Given the description of an element on the screen output the (x, y) to click on. 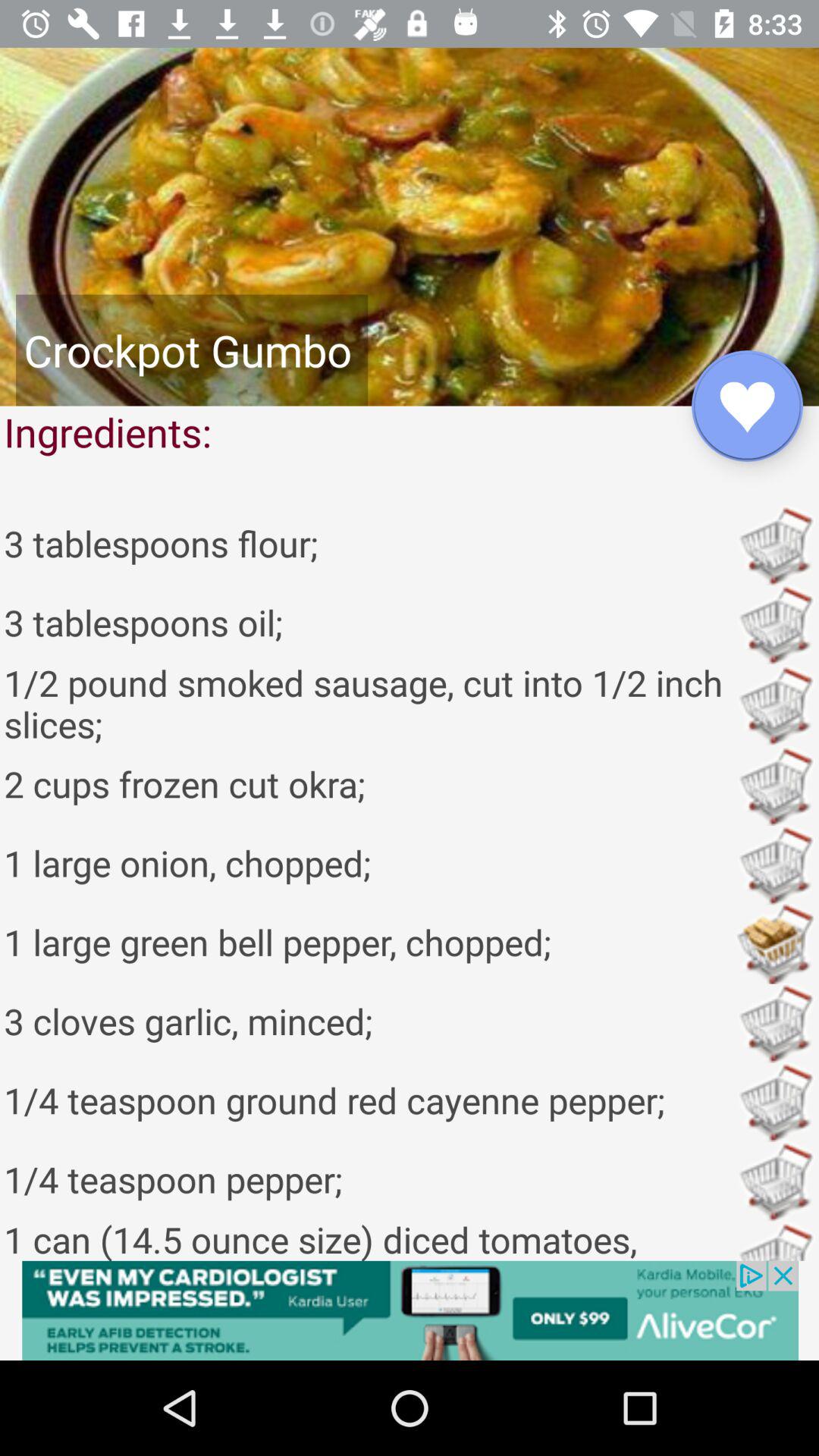
go to advertisement (409, 1310)
